Given the description of an element on the screen output the (x, y) to click on. 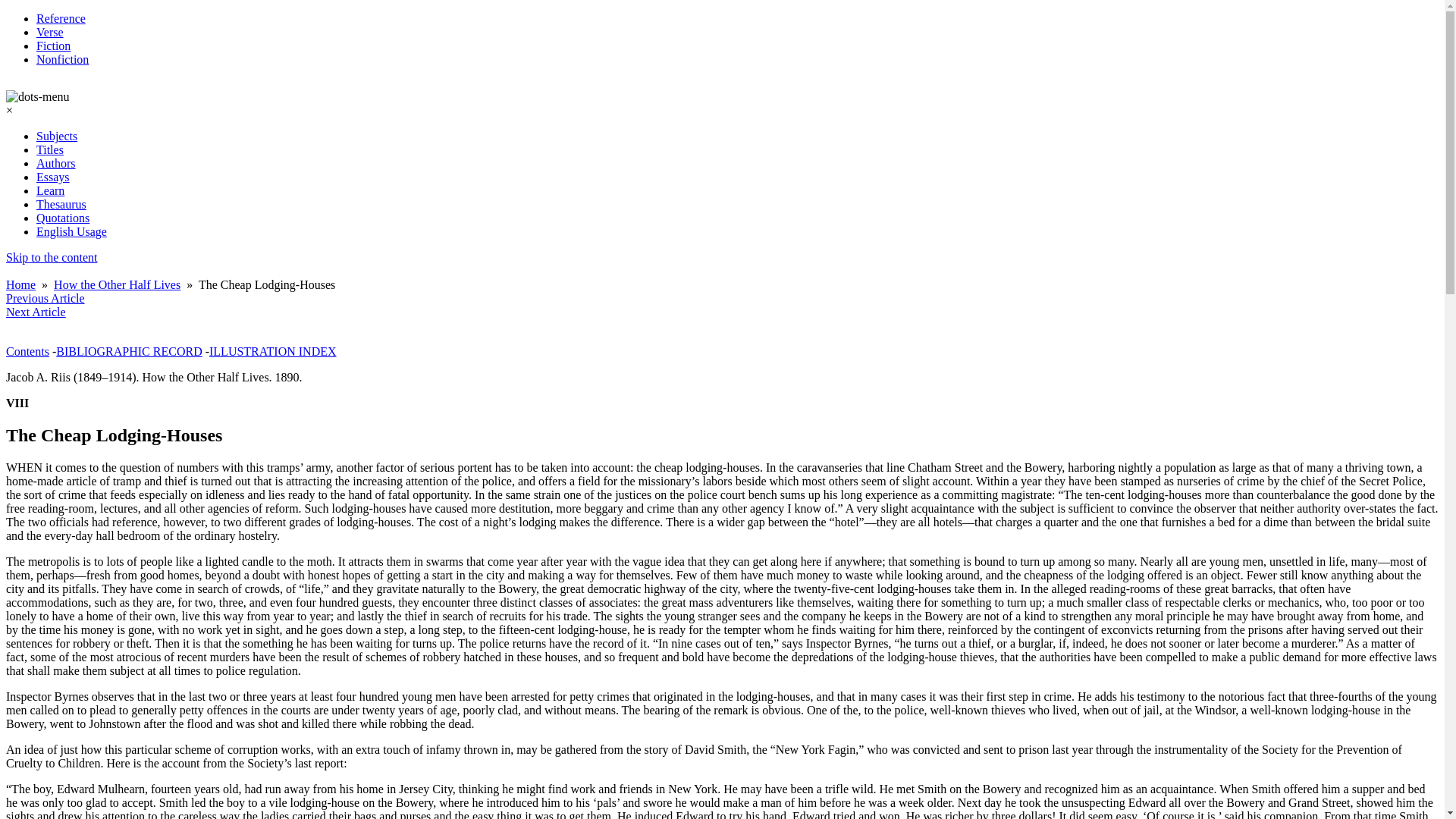
Contents (27, 350)
Fiction (52, 45)
Previous Article (44, 297)
Authors (55, 163)
English Usage (71, 231)
ILLUSTRATION INDEX (272, 350)
Skip to the content (51, 256)
Verse (50, 31)
Reference (60, 18)
Next Article (35, 311)
Quotations (62, 217)
Subjects (56, 135)
Titles (50, 149)
How the Other Half Lives (116, 284)
BIBLIOGRAPHIC RECORD (129, 350)
